Given the description of an element on the screen output the (x, y) to click on. 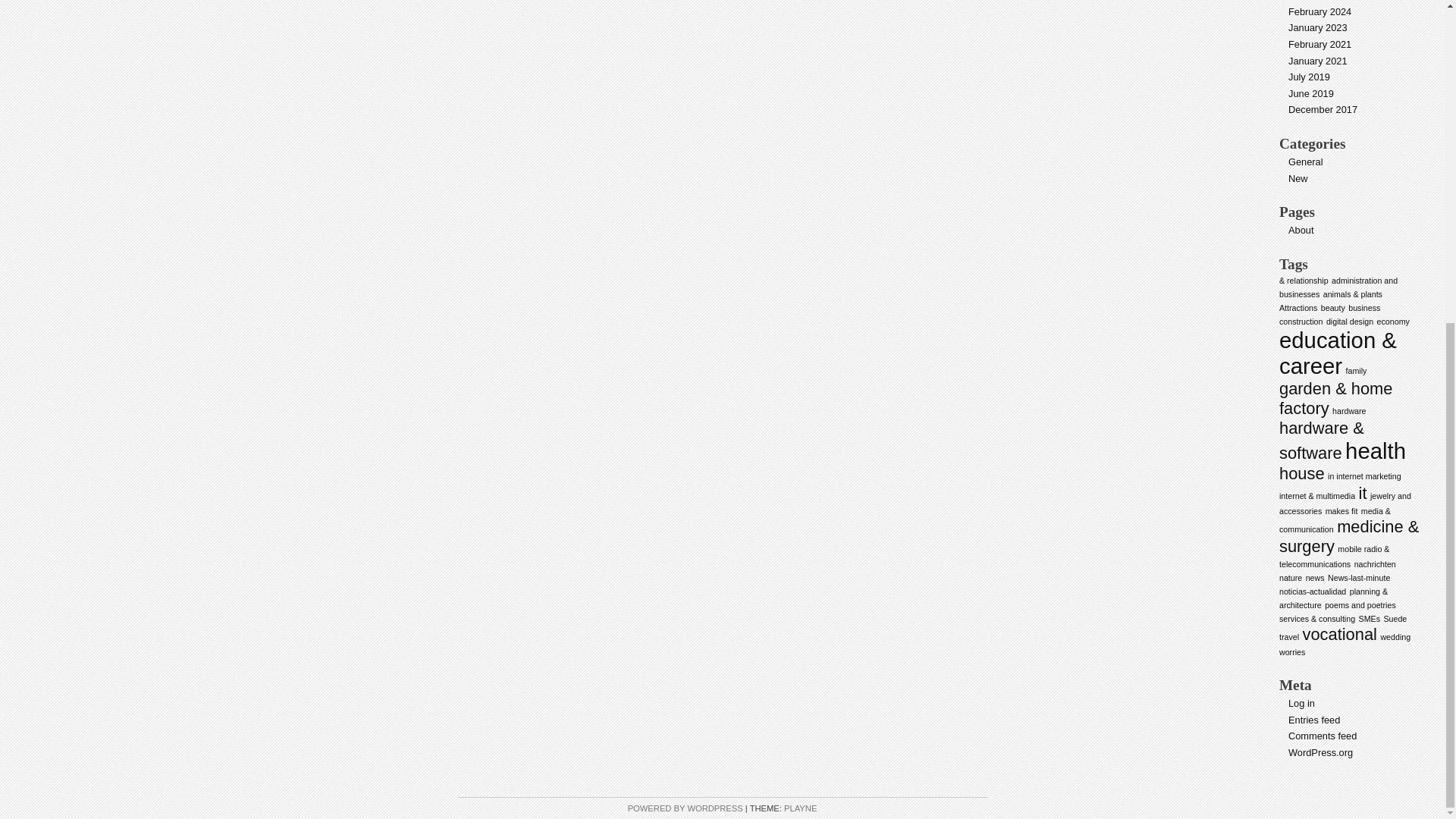
business (1364, 307)
January 2021 (1318, 60)
administration and businesses (1338, 287)
December 2017 (1322, 109)
New (1297, 178)
January 2023 (1318, 27)
beauty (1332, 307)
March 2024 (1313, 0)
July 2019 (1309, 76)
June 2019 (1310, 93)
About (1300, 229)
February 2024 (1319, 11)
February 2021 (1319, 43)
Attractions (1298, 307)
General (1305, 161)
